Given the description of an element on the screen output the (x, y) to click on. 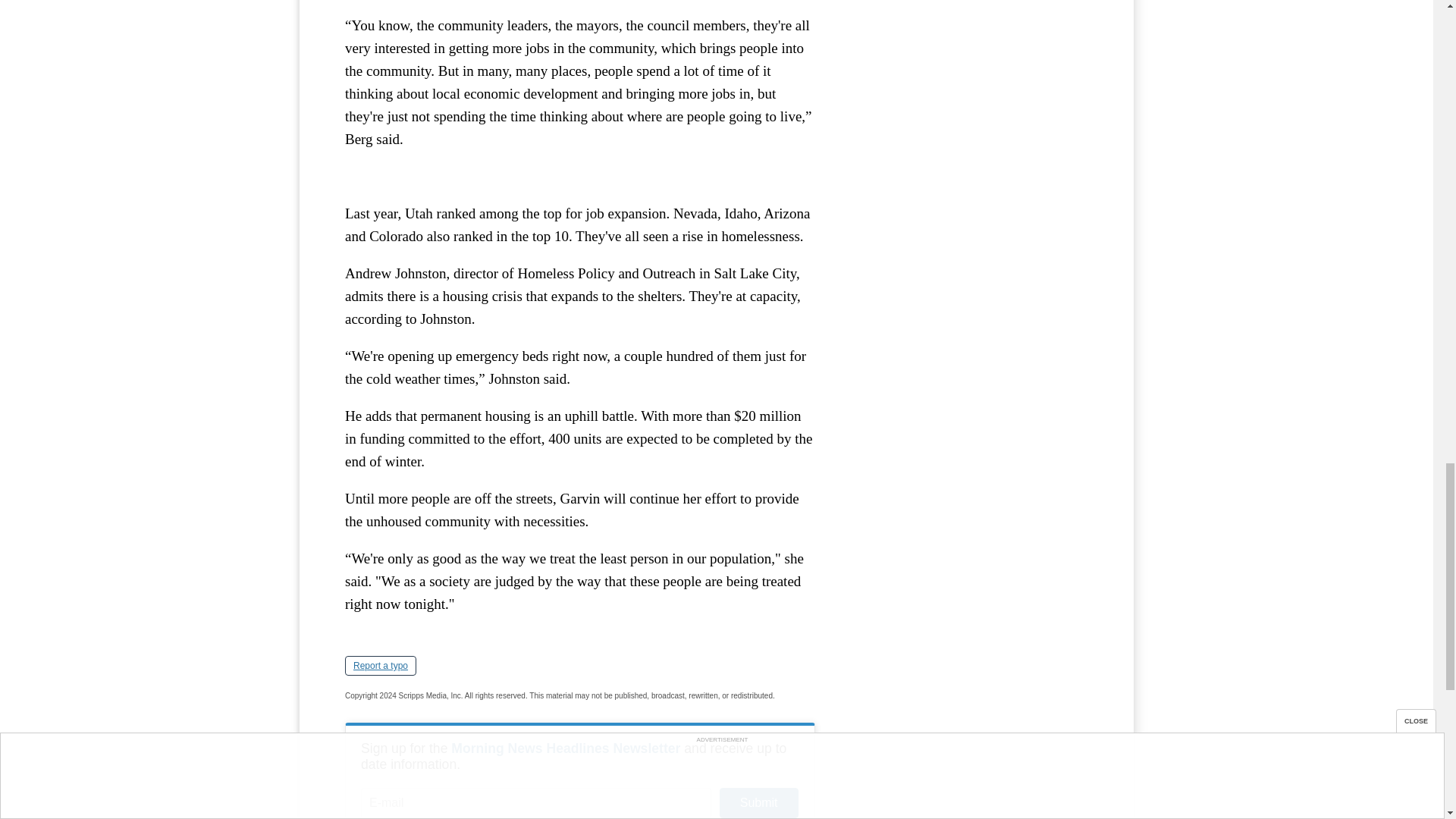
Submit (758, 802)
